Given the description of an element on the screen output the (x, y) to click on. 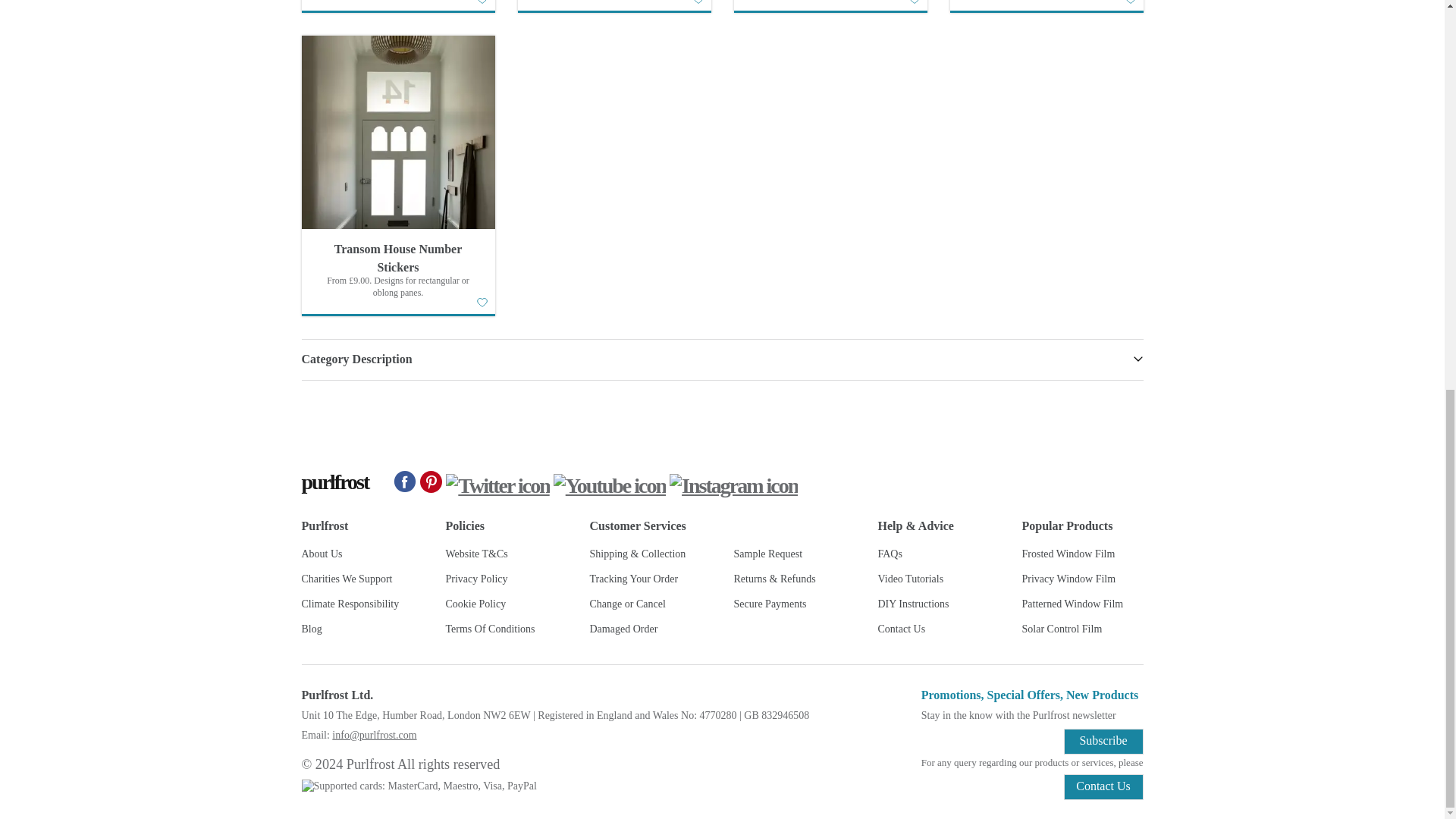
Add to Favourites (481, 2)
Add to Favourites (698, 2)
Add to Favourites (481, 302)
Customer reviews powered by Trustpilot (721, 417)
Add to Favourites (1130, 2)
Add to Favourites (913, 2)
